Given the description of an element on the screen output the (x, y) to click on. 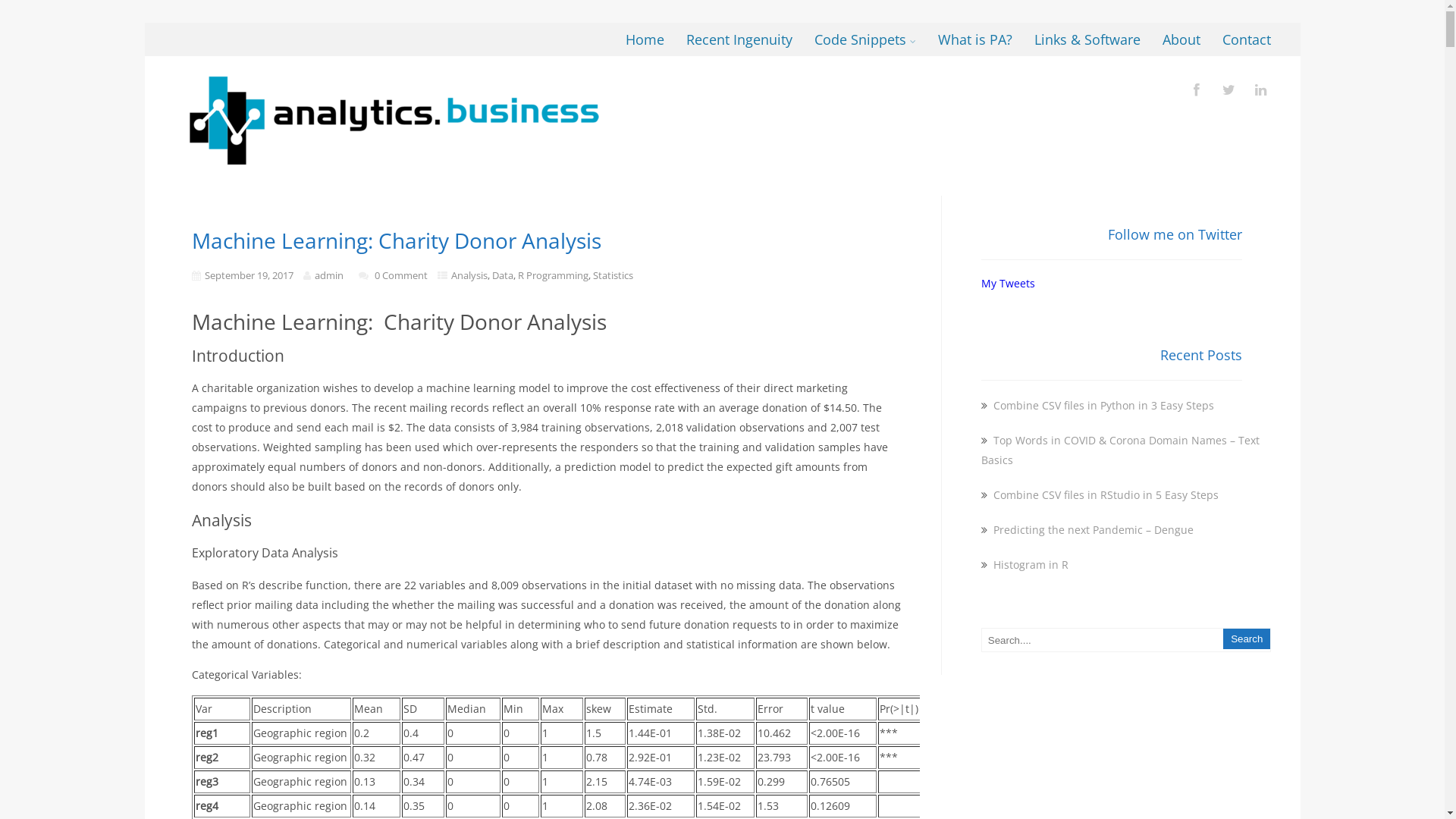
Home Element type: text (644, 39)
Analysis Element type: text (469, 275)
R Programming Element type: text (552, 275)
Contact Element type: text (1246, 39)
Combine CSV files in Python in 3 Easy Steps Element type: text (1102, 405)
Search Element type: text (1246, 638)
Histogram in R Element type: text (1029, 564)
Analytics for Business Element type: hover (393, 180)
Recent Ingenuity Element type: text (739, 39)
What is PA? Element type: text (975, 39)
Code Snippets Element type: text (865, 39)
Data Element type: text (502, 275)
Combine CSV files in RStudio in 5 Easy Steps Element type: text (1104, 494)
My Tweets Element type: text (1008, 283)
September 19, 2017 Element type: text (248, 275)
Statistics Element type: text (613, 275)
admin Element type: text (328, 275)
Links & Software Element type: text (1087, 39)
About Element type: text (1181, 39)
0 Comment Element type: text (400, 275)
